Given the description of an element on the screen output the (x, y) to click on. 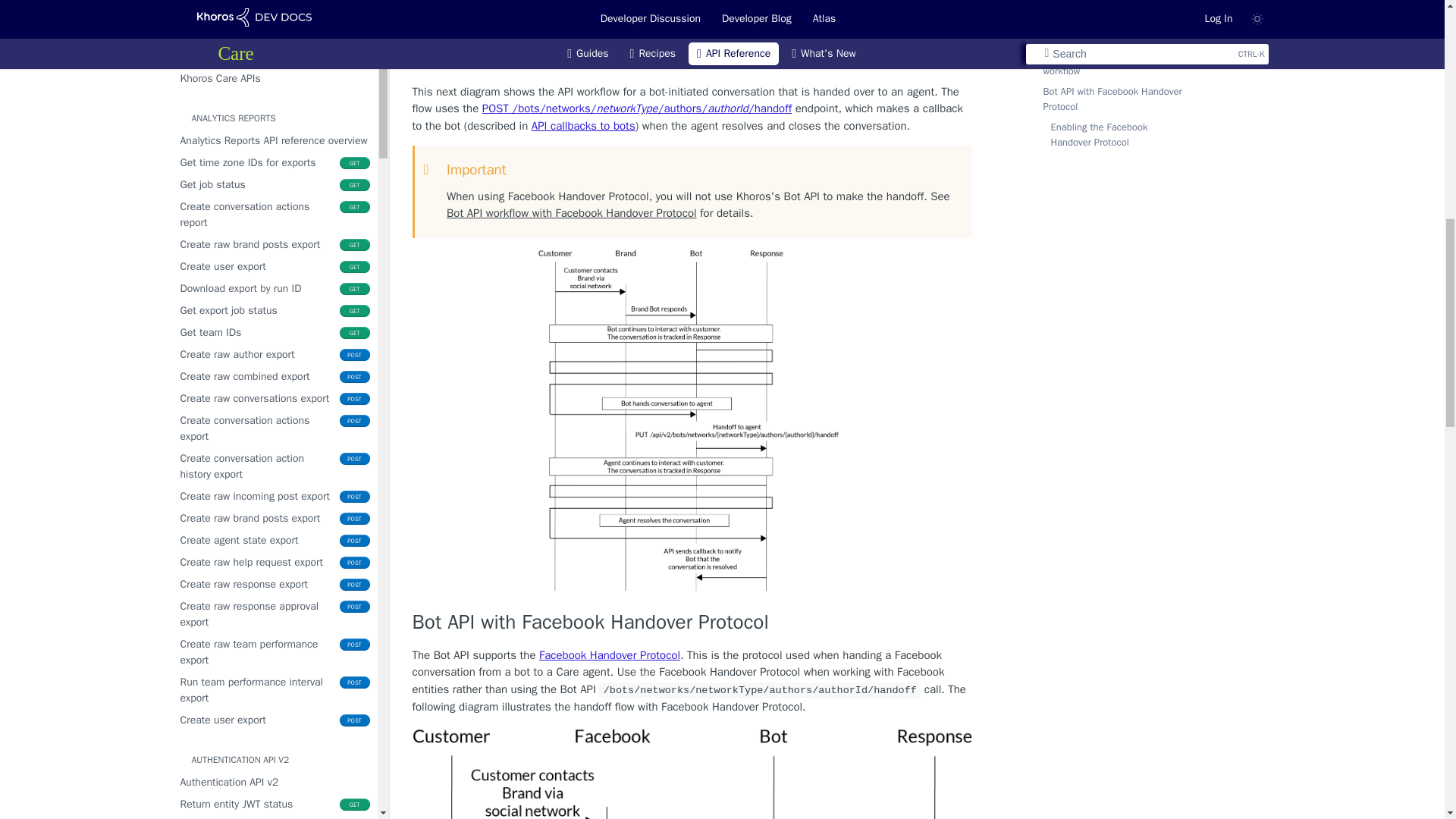
botApiBotHandoffFlow.png (691, 419)
Bot API with Facebook Handover Protocol (692, 622)
botApiBotResolveFlow.png (692, 13)
botApiBotHandoffFlowFacebook.png (692, 773)
Handoff to Khoros Care agent workflow (692, 59)
